Given the description of an element on the screen output the (x, y) to click on. 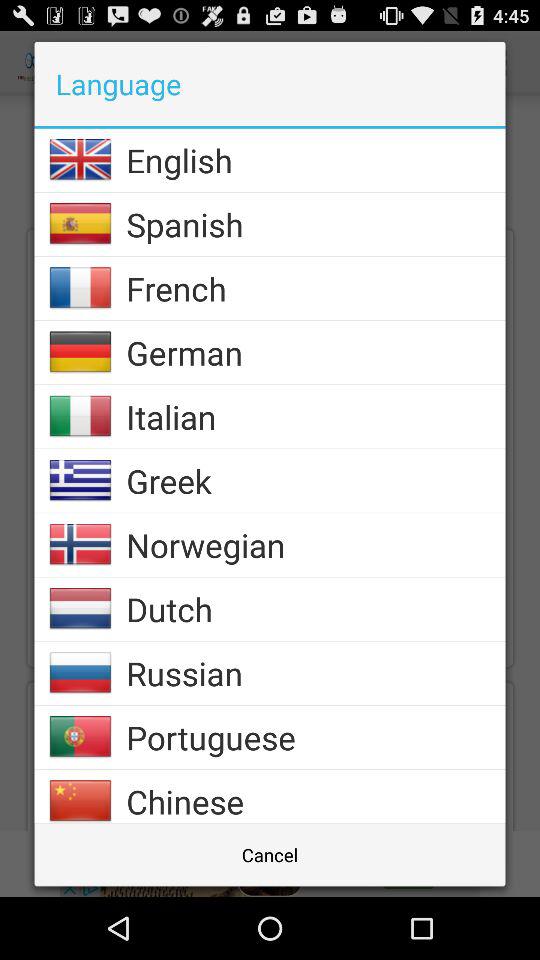
open icon above the italian item (315, 352)
